Given the description of an element on the screen output the (x, y) to click on. 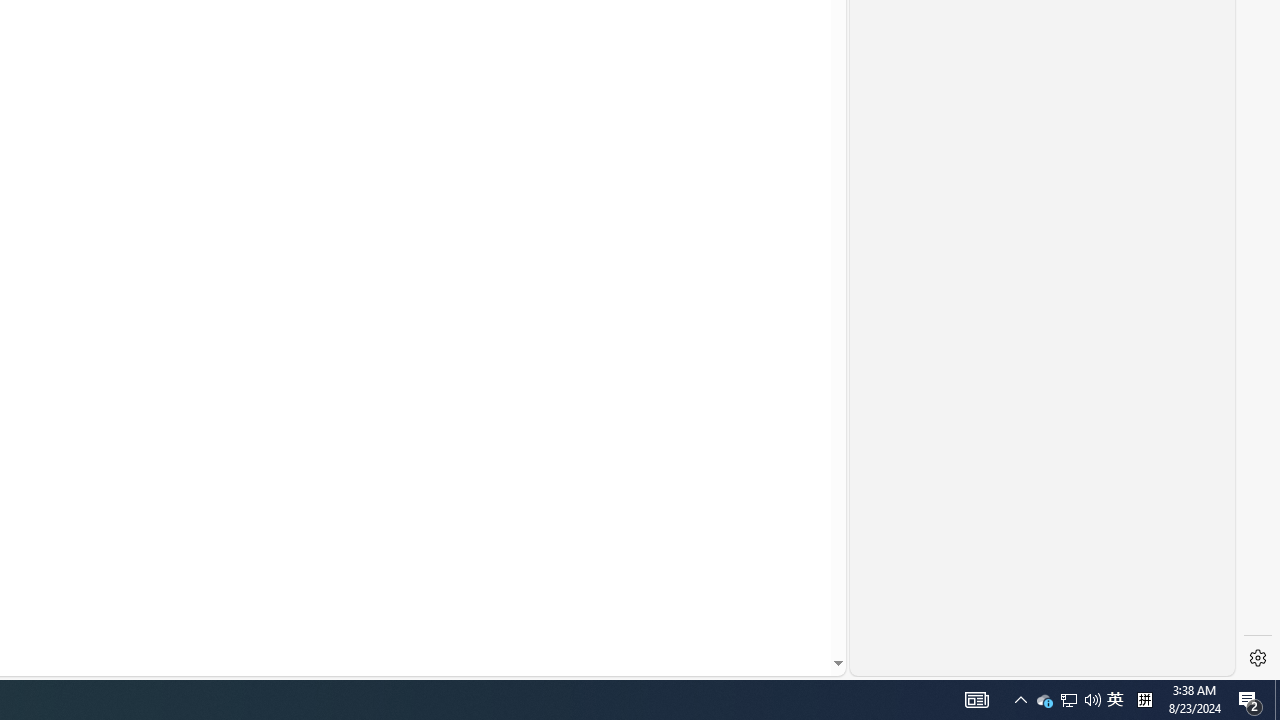
Search more (792, 604)
AutomationID: mfa_root (762, 603)
